Given the description of an element on the screen output the (x, y) to click on. 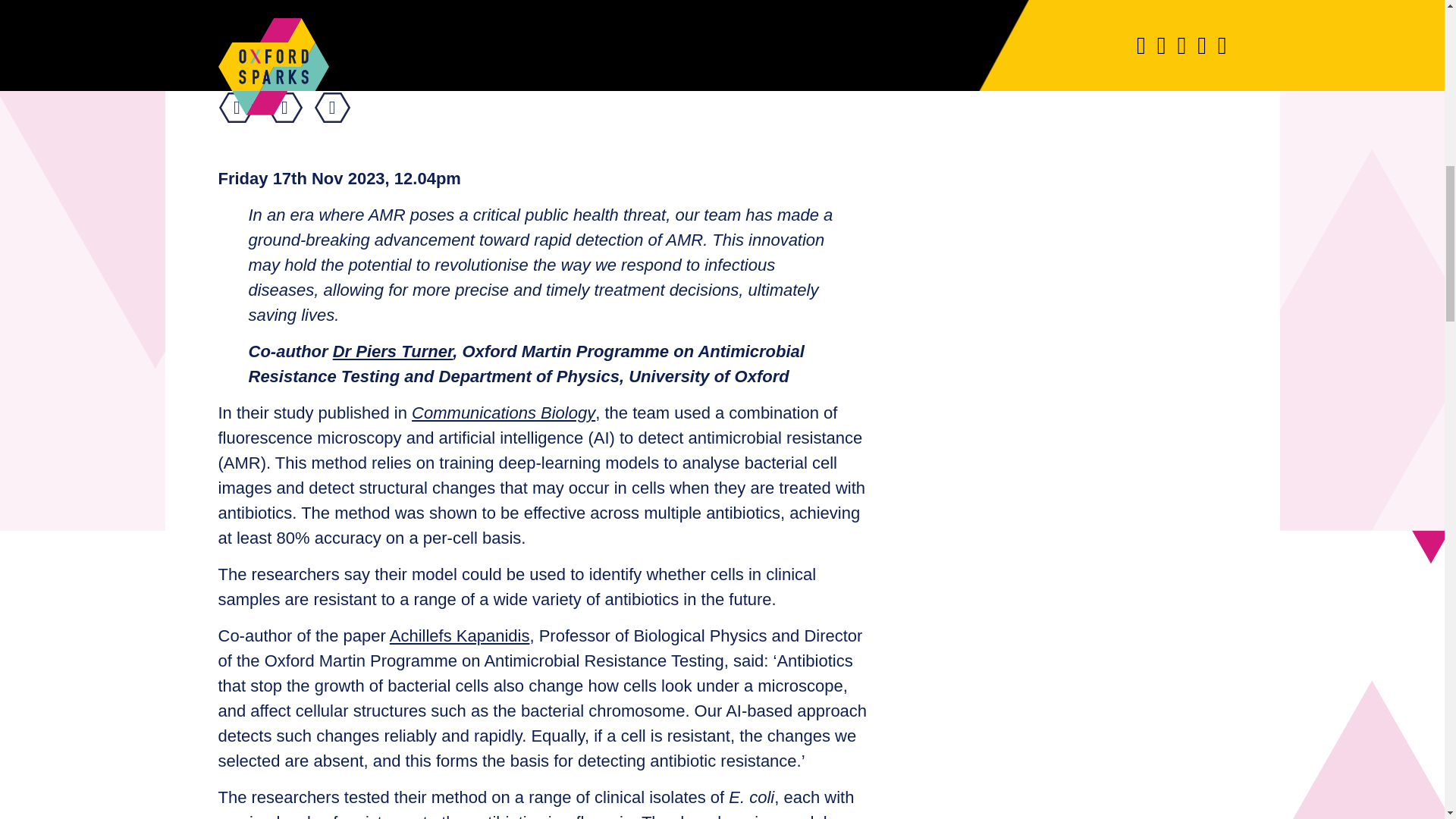
Achillefs Kapanidis (459, 635)
Share this on facebook (237, 107)
Communications Biology (503, 412)
Tweet a link to this page (283, 107)
Share this on email (331, 107)
Dr Piers Turner (392, 351)
